Given the description of an element on the screen output the (x, y) to click on. 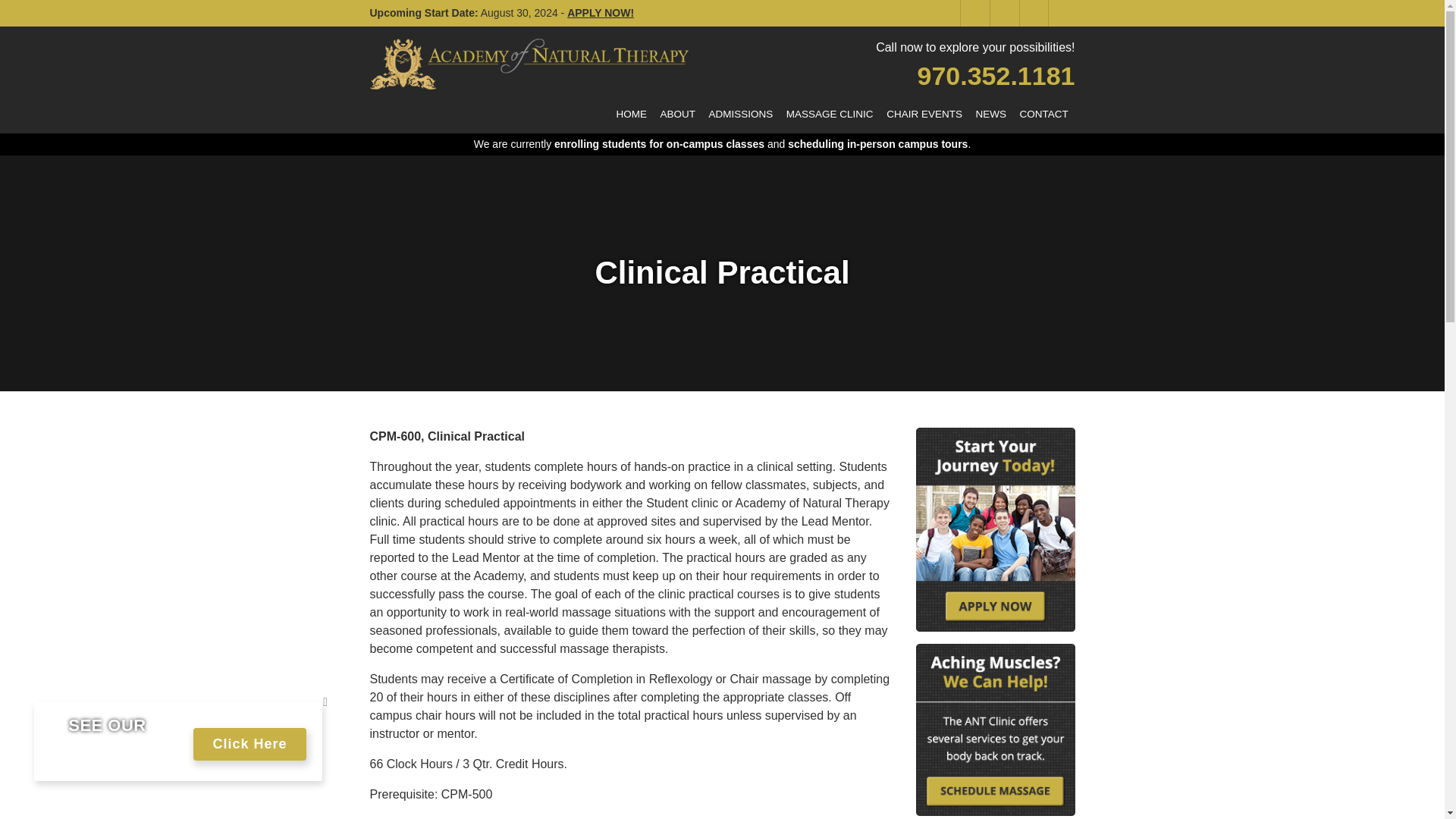
MASSAGE CLINIC (828, 114)
ABOUT (677, 114)
ADMISSIONS (739, 114)
Visit our Tumblr Feed (1061, 13)
Follow Us on Facebook (973, 13)
View our Twitter Feed (1003, 13)
View our LinkedIn Profile (1032, 13)
970.352.1181 (996, 75)
HOME (631, 114)
Click to Call (996, 75)
APPLY NOW! (600, 12)
